Given the description of an element on the screen output the (x, y) to click on. 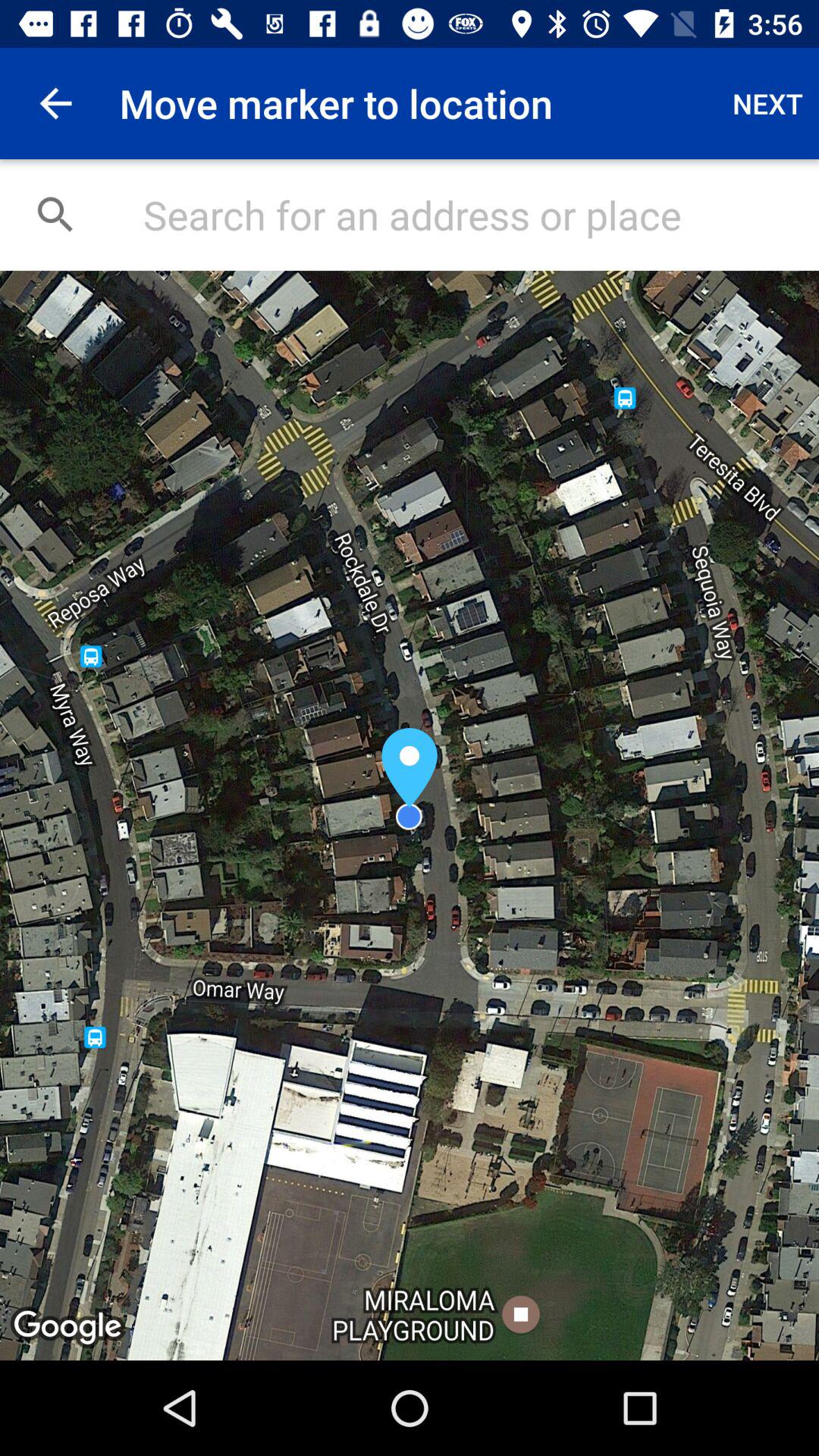
select next at the top right corner (767, 103)
